Given the description of an element on the screen output the (x, y) to click on. 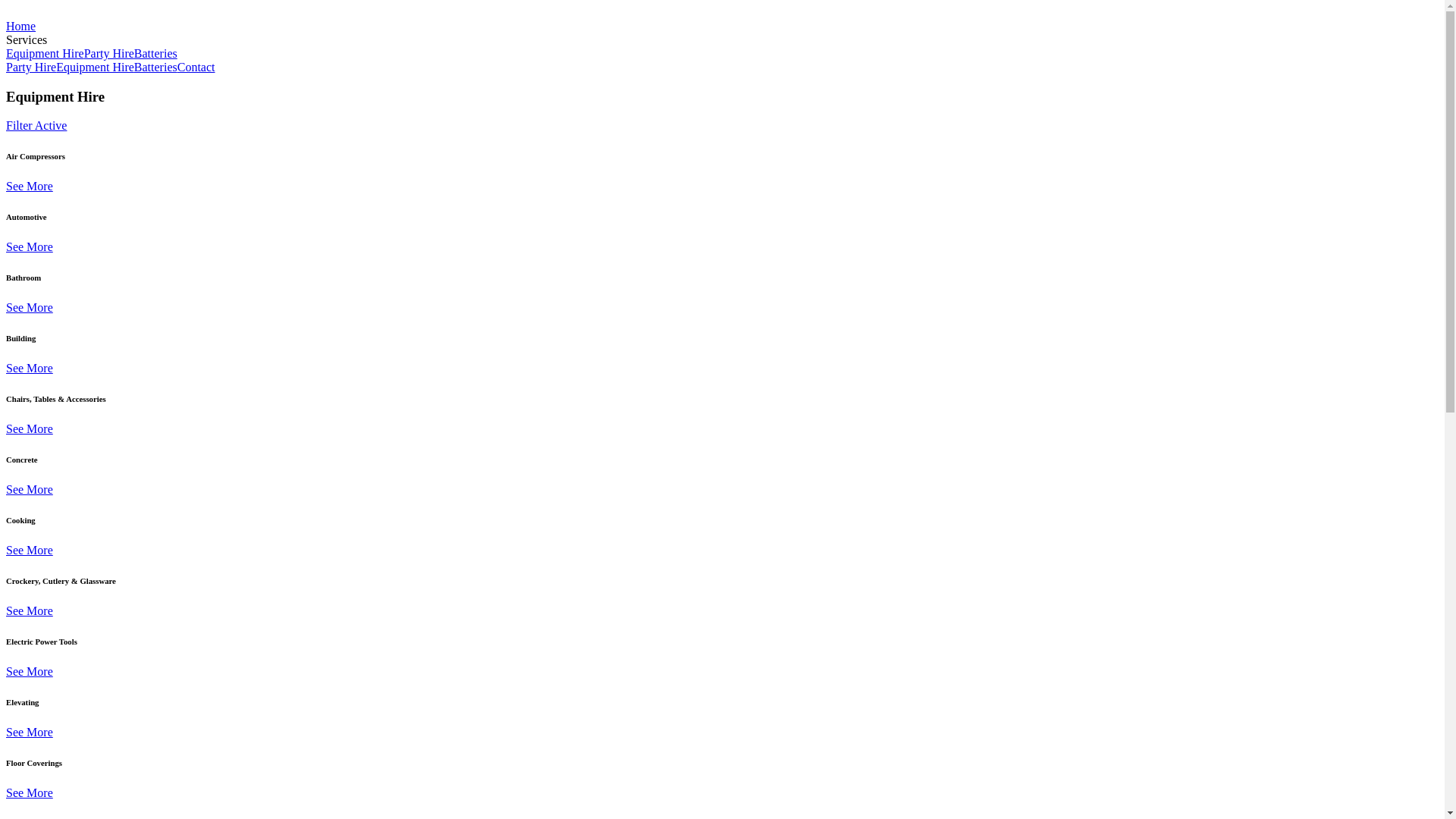
See More Element type: text (29, 307)
See More Element type: text (29, 792)
See More Element type: text (29, 367)
See More Element type: text (29, 671)
See More Element type: text (29, 428)
Party Hire Element type: text (31, 66)
Batteries Element type: text (155, 53)
See More Element type: text (29, 610)
See More Element type: text (29, 246)
Batteries Element type: text (155, 66)
See More Element type: text (29, 731)
Home Element type: text (20, 25)
See More Element type: text (29, 549)
Contact Element type: text (196, 66)
See More Element type: text (29, 489)
See More Element type: text (29, 185)
Party Hire Element type: text (109, 53)
Equipment Hire Element type: text (95, 66)
Filter Active Element type: text (36, 125)
Equipment Hire Element type: text (45, 53)
